Given the description of an element on the screen output the (x, y) to click on. 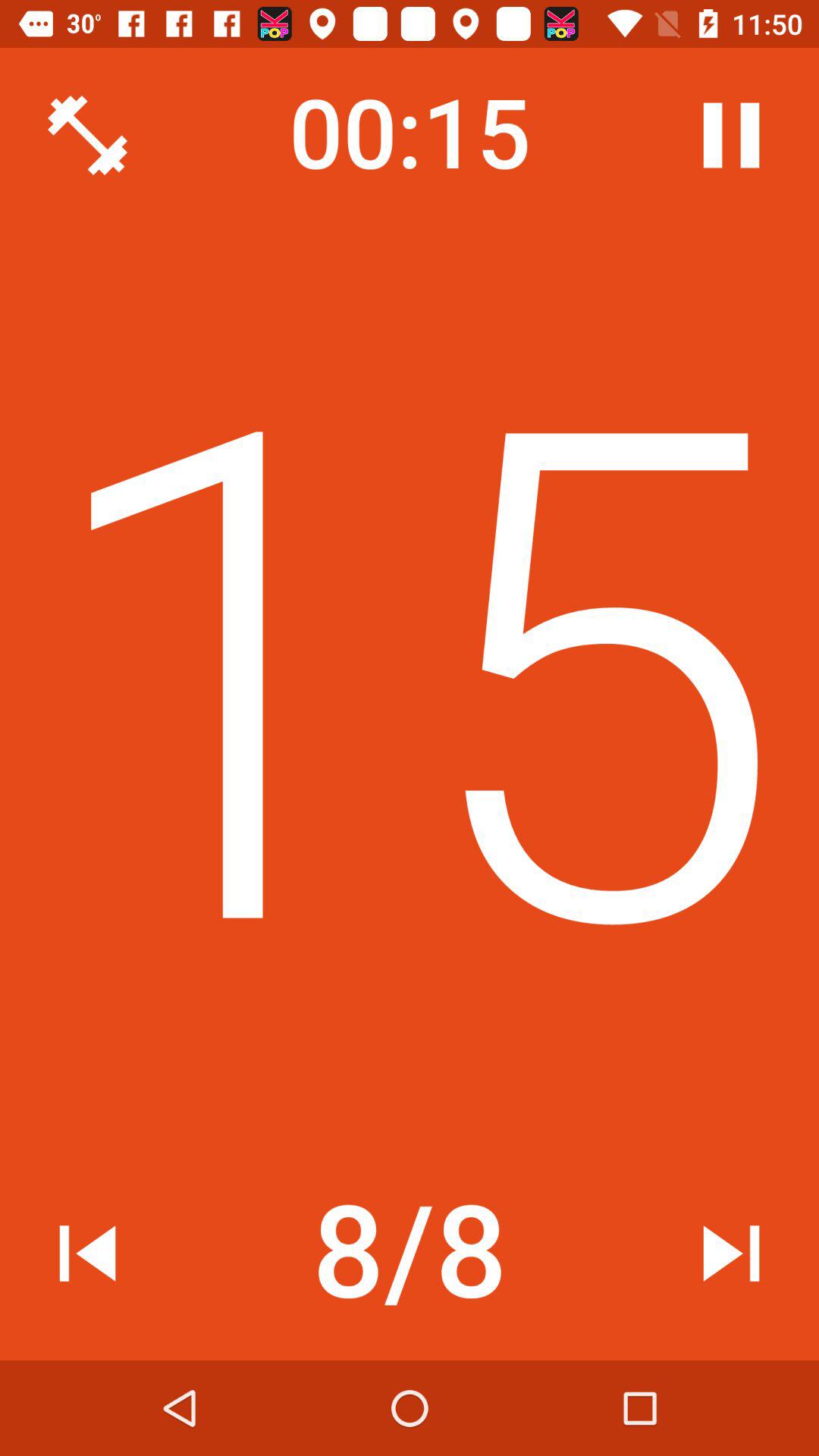
turn on item next to 00:14 (731, 135)
